Given the description of an element on the screen output the (x, y) to click on. 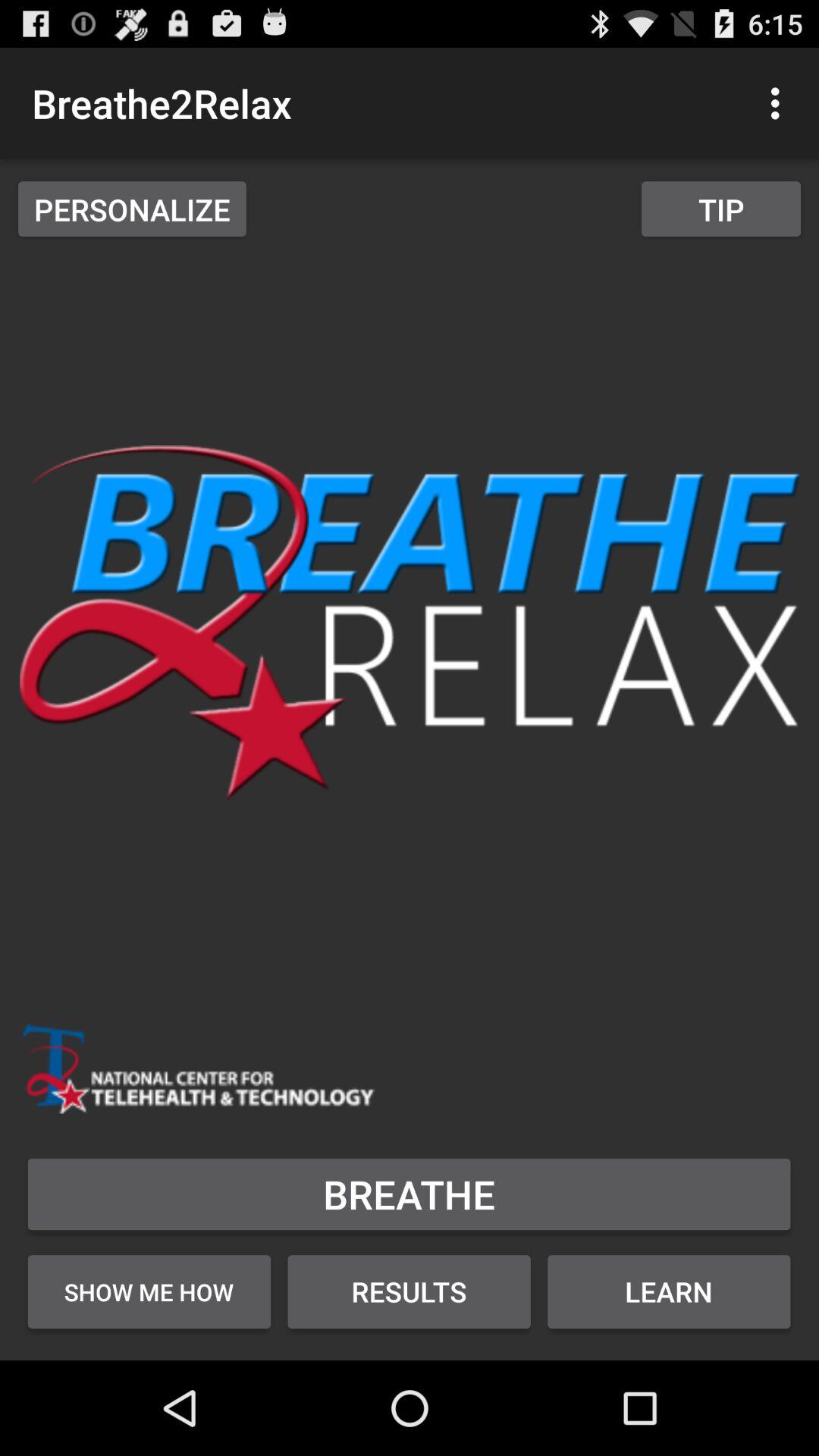
jump to breathe item (408, 1194)
